Given the description of an element on the screen output the (x, y) to click on. 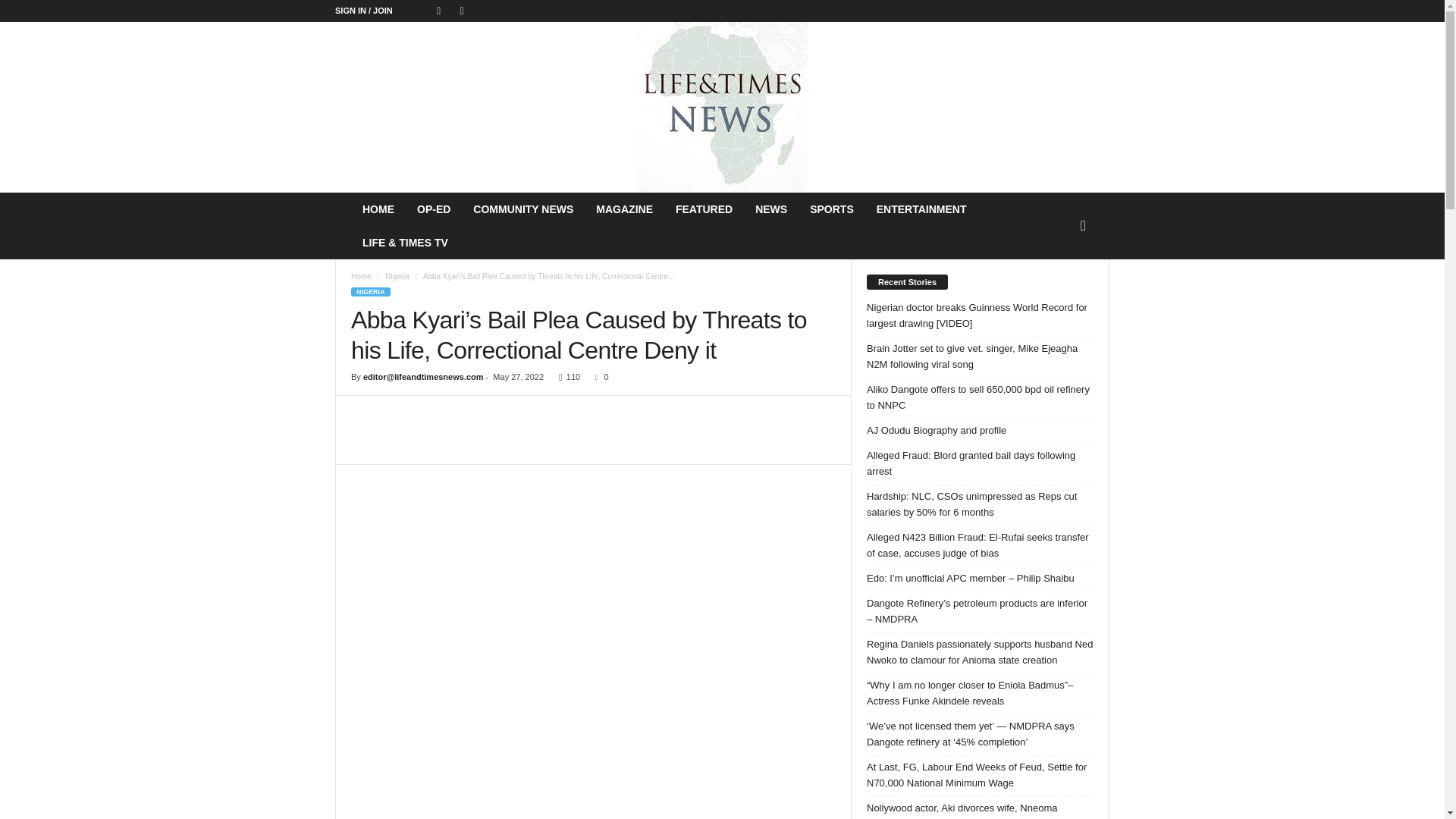
OP-ED (433, 209)
NIGERIA (370, 291)
COMMUNITY NEWS (523, 209)
View all posts in Nigeria (397, 275)
SPORTS (830, 209)
NEWS (770, 209)
0 (598, 376)
ENTERTAINMENT (921, 209)
HOME (378, 209)
FEATURED (703, 209)
MAGAZINE (624, 209)
Nigeria (397, 275)
Home (360, 275)
